Given the description of an element on the screen output the (x, y) to click on. 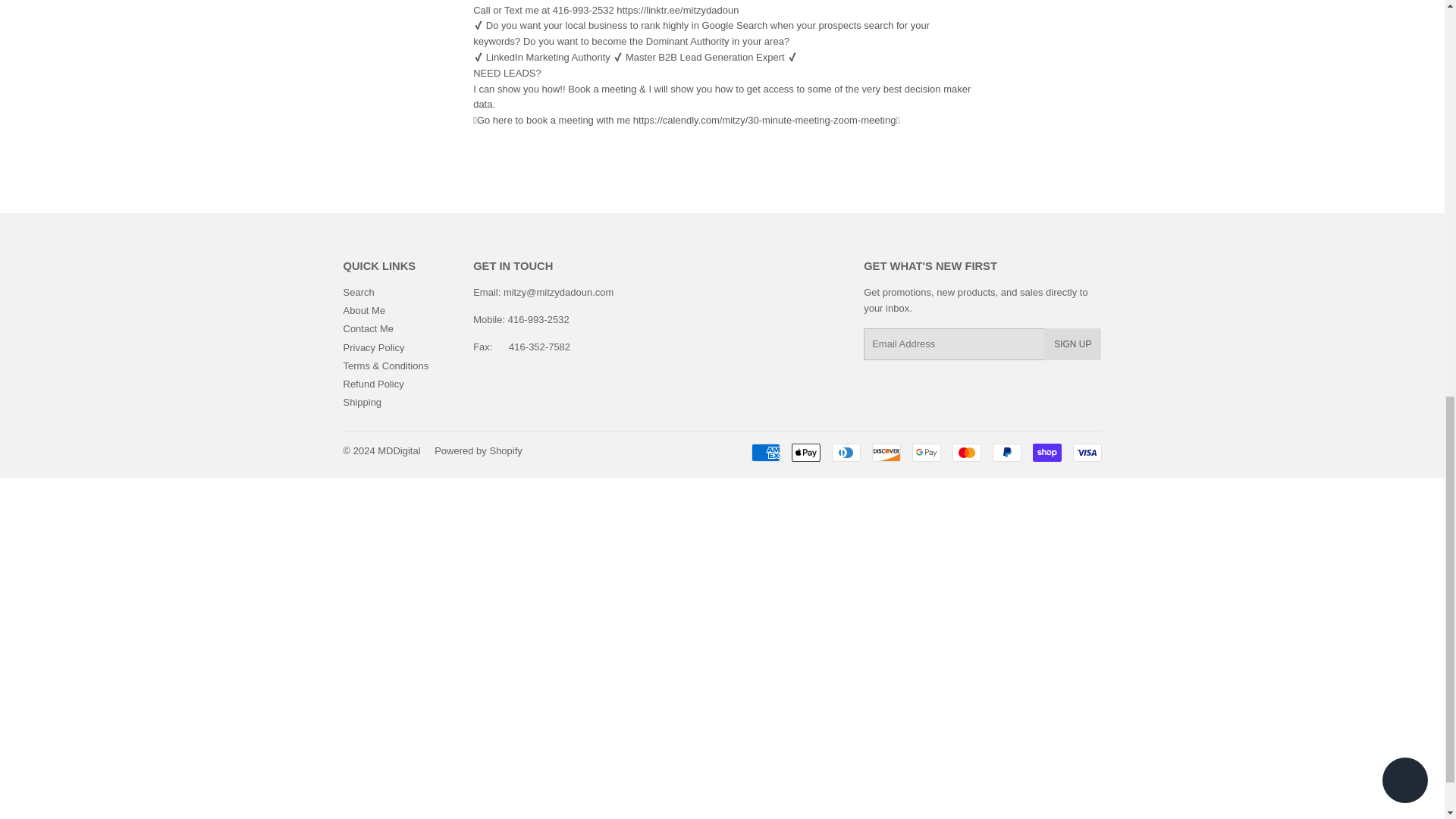
American Express (764, 452)
Mastercard (966, 452)
Google Pay (925, 452)
PayPal (1005, 452)
Diners Club (845, 452)
Apple Pay (806, 452)
Discover (886, 452)
Visa (1085, 452)
Shop Pay (1046, 452)
